Given the description of an element on the screen output the (x, y) to click on. 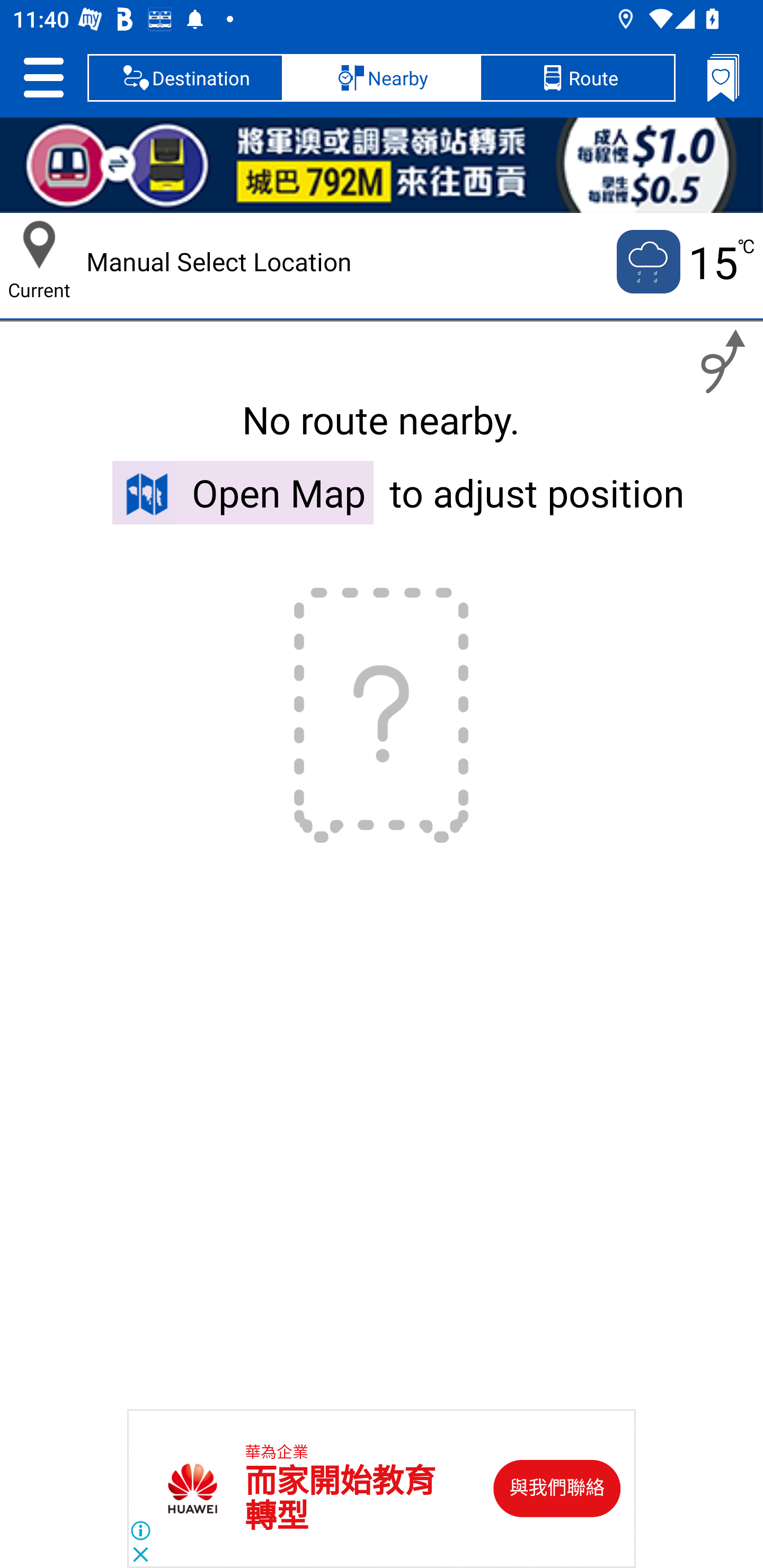
Destination (185, 77)
Nearby, selected (381, 77)
Route (577, 77)
Bookmarks (723, 77)
Setting (43, 77)
792M BRI (381, 165)
Current Location (38, 244)
Current temputure is  15  no 15 ℃ (684, 261)
Open Map (242, 491)
華為企業 (276, 1452)
與我們聯絡 (556, 1488)
而家開始教育 轉型 而家開始教育 轉型 (339, 1498)
